Given the description of an element on the screen output the (x, y) to click on. 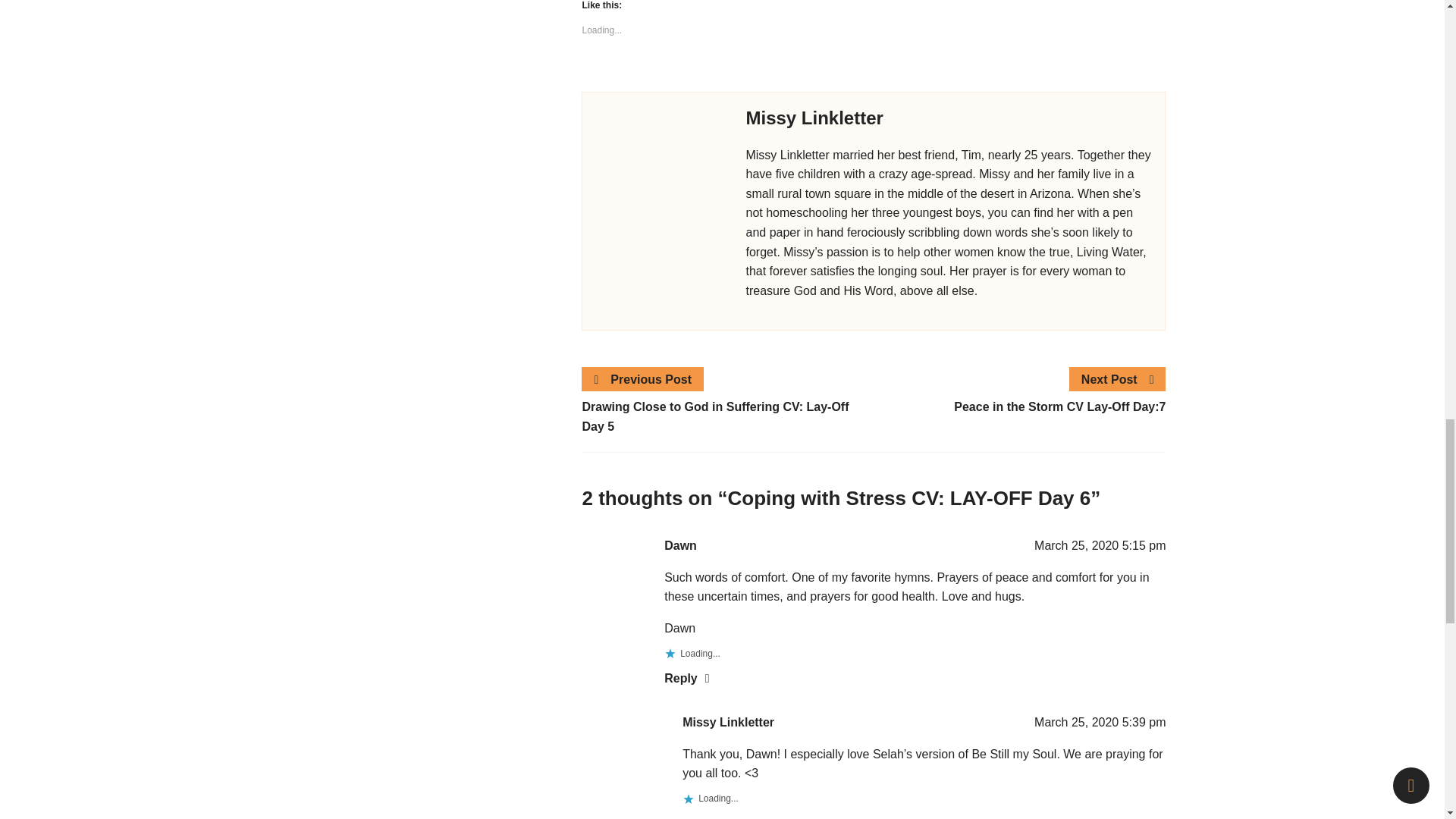
Previous Post (642, 379)
Drawing Close to God in Suffering CV: Lay-Off Day 5 (726, 416)
Next Post (1117, 379)
Reply (704, 818)
Missy Linkletter (728, 721)
Reply (686, 677)
Peace in the Storm CV Lay-Off Day:7 (1019, 406)
